Given the description of an element on the screen output the (x, y) to click on. 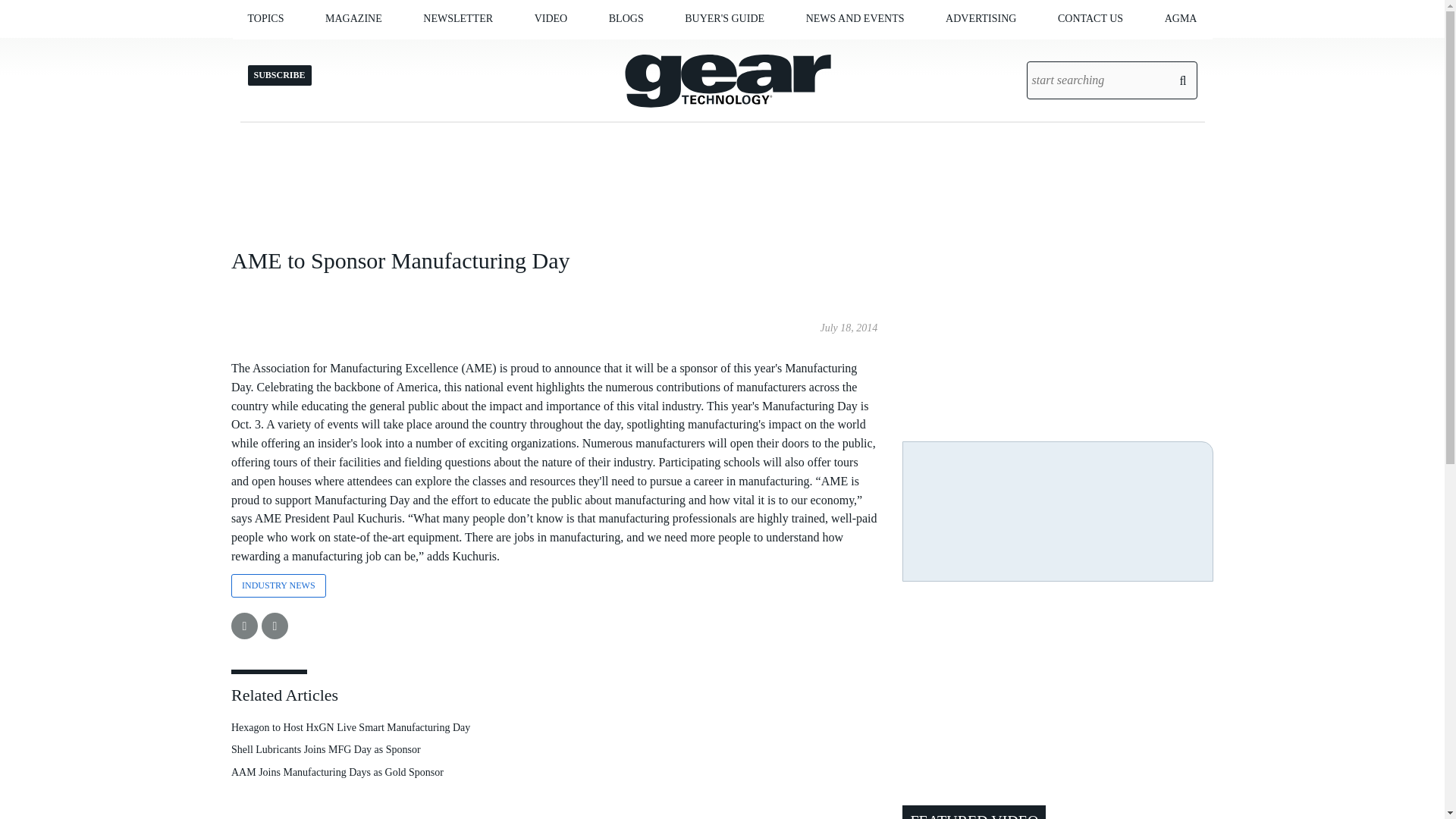
HEAT TREATING (338, 50)
THE GEAR INDUSTRY (349, 50)
ADVERTISE (419, 50)
MAGAZINE (352, 18)
NEWS AND EVENTS (855, 18)
CURRENT ISSUE (400, 50)
DEPARTMENTS (407, 50)
SUBSCRIBE (416, 50)
INSPECTION (334, 50)
ADVERTISING (980, 18)
